Given the description of an element on the screen output the (x, y) to click on. 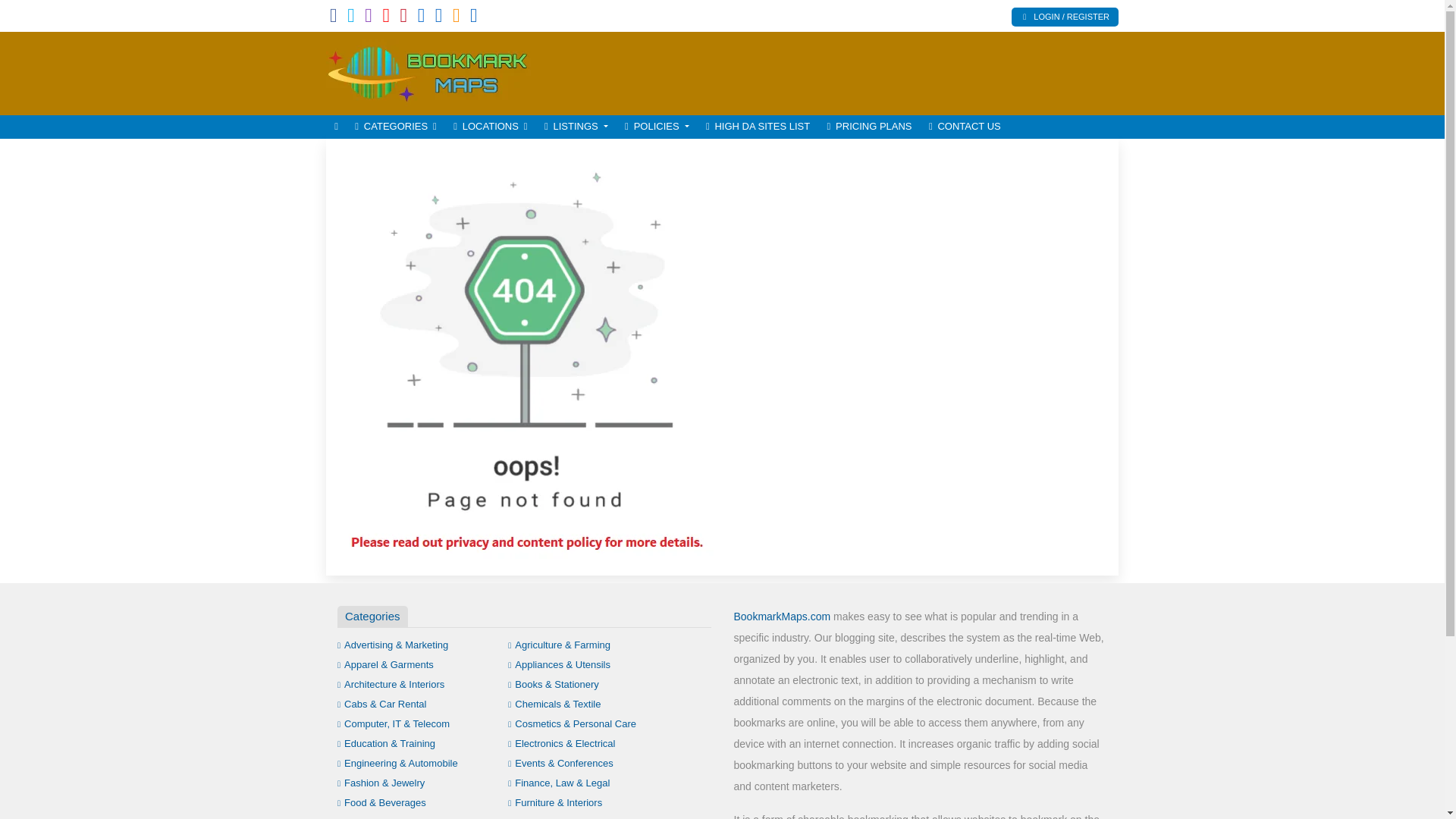
Publish Business Site in Latest Social Media for Best SEO (428, 71)
CATEGORIES (395, 126)
